Given the description of an element on the screen output the (x, y) to click on. 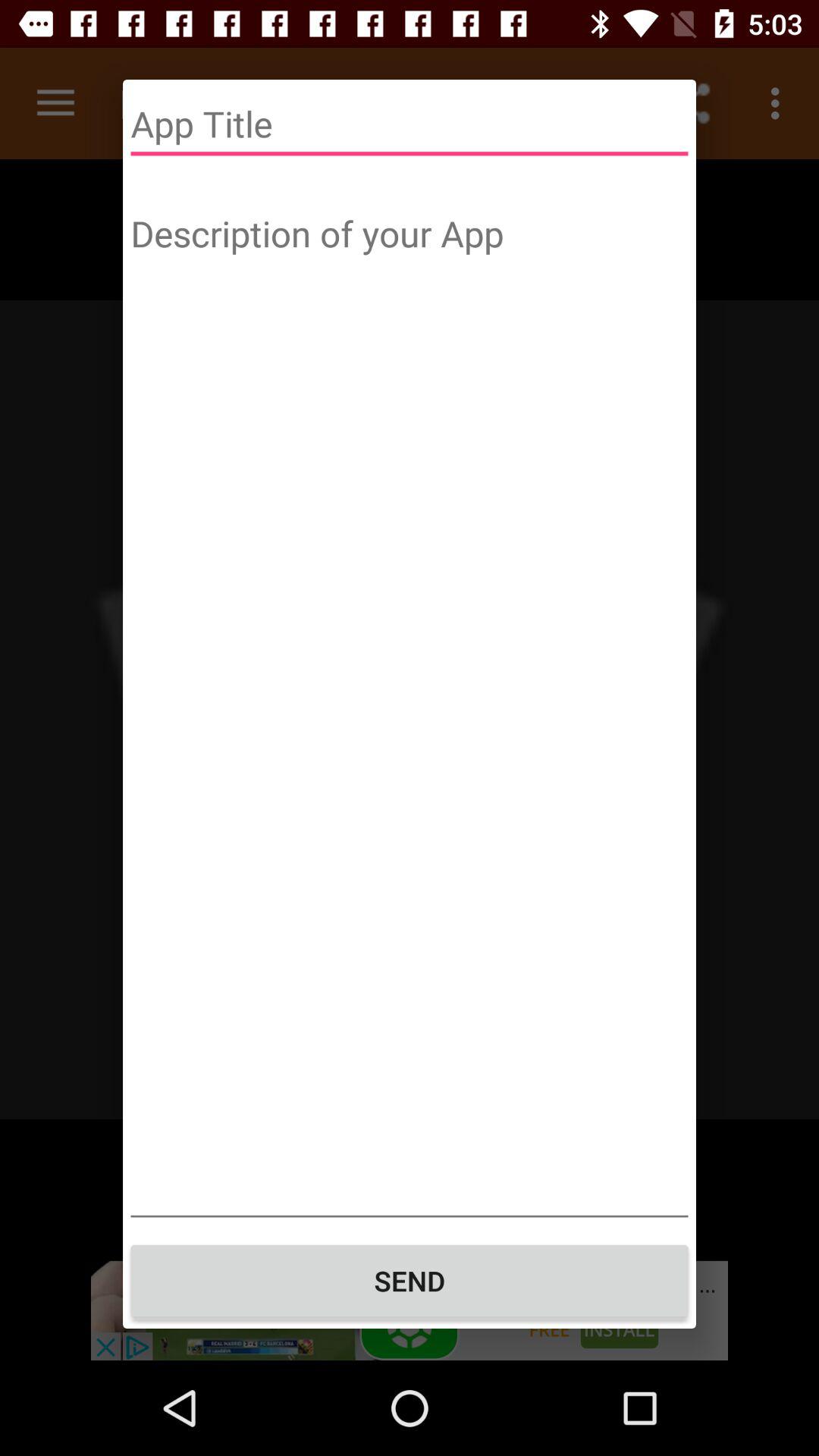
enter app description (409, 711)
